Given the description of an element on the screen output the (x, y) to click on. 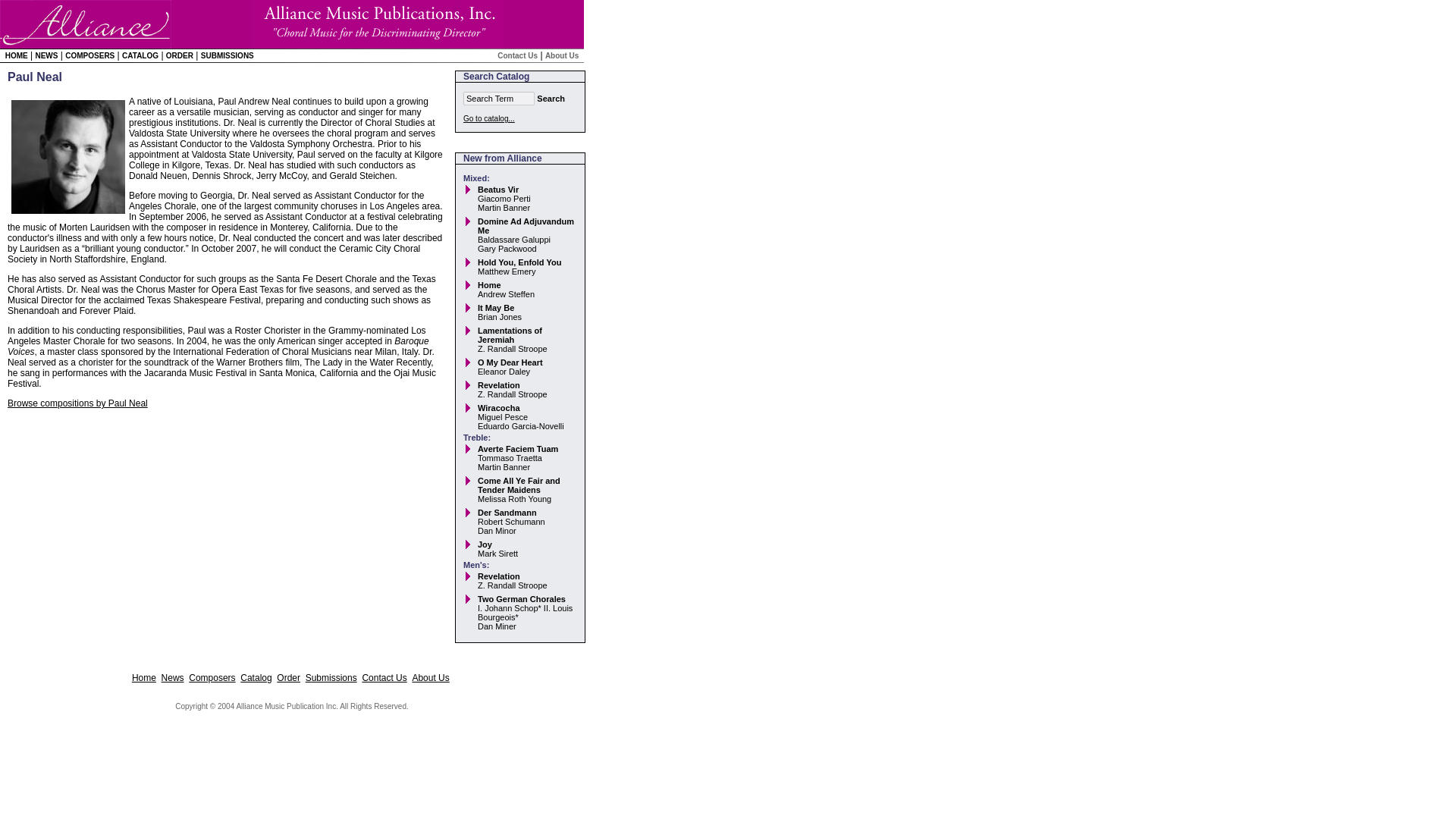
Hold You, Enfold You (518, 261)
Joy (484, 543)
Composers (211, 677)
Revelation (498, 575)
ORDER (179, 55)
Wiracocha (498, 407)
Submissions (330, 677)
It May Be (495, 307)
NEWS (46, 55)
Domine Ad Adjuvandum Me (525, 226)
